Given the description of an element on the screen output the (x, y) to click on. 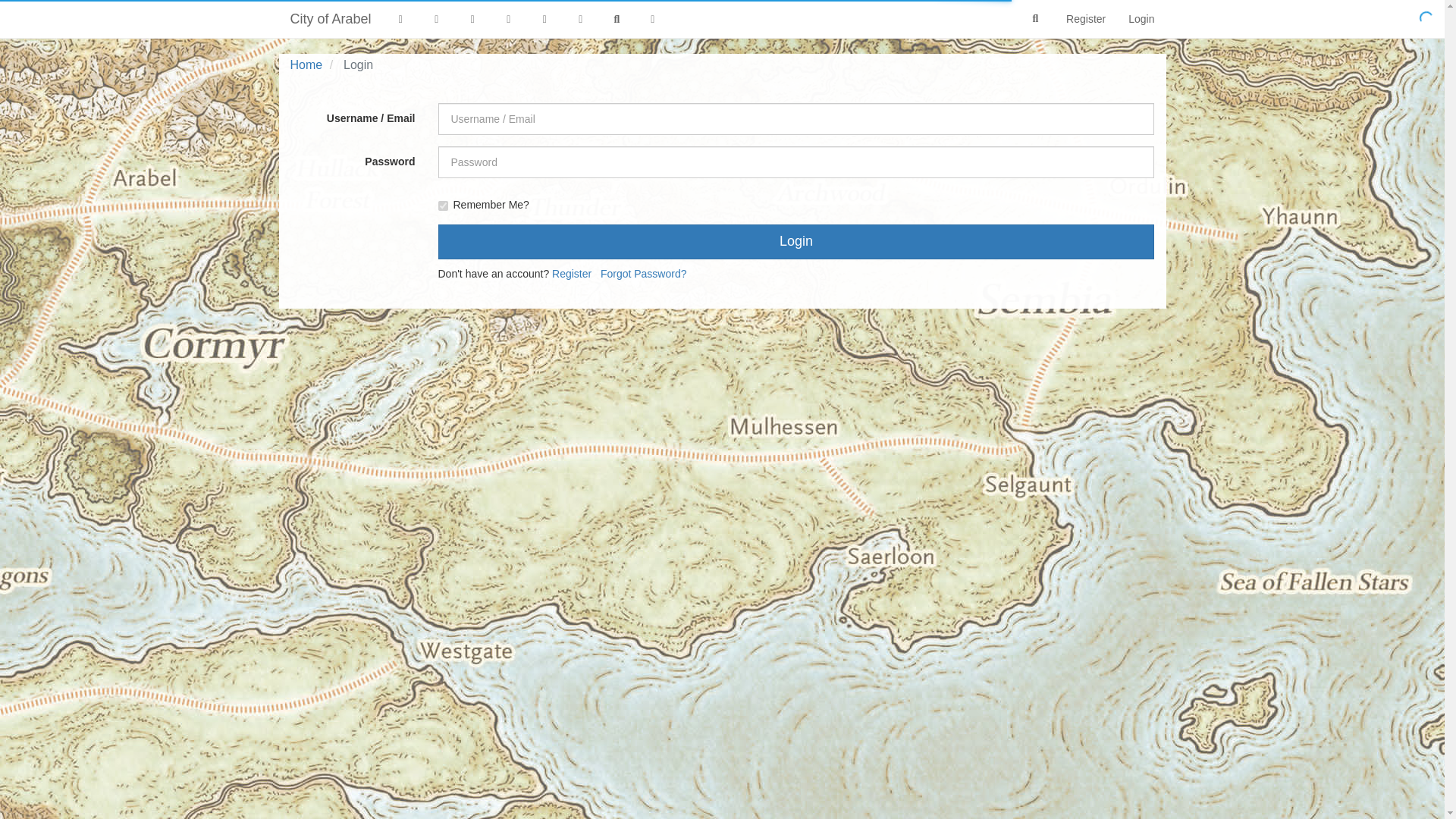
Register (1085, 18)
Search (1035, 18)
on (443, 205)
Login (796, 241)
Home (305, 64)
Forgot Password? (643, 273)
Register (571, 273)
Login (1141, 18)
